Given the description of an element on the screen output the (x, y) to click on. 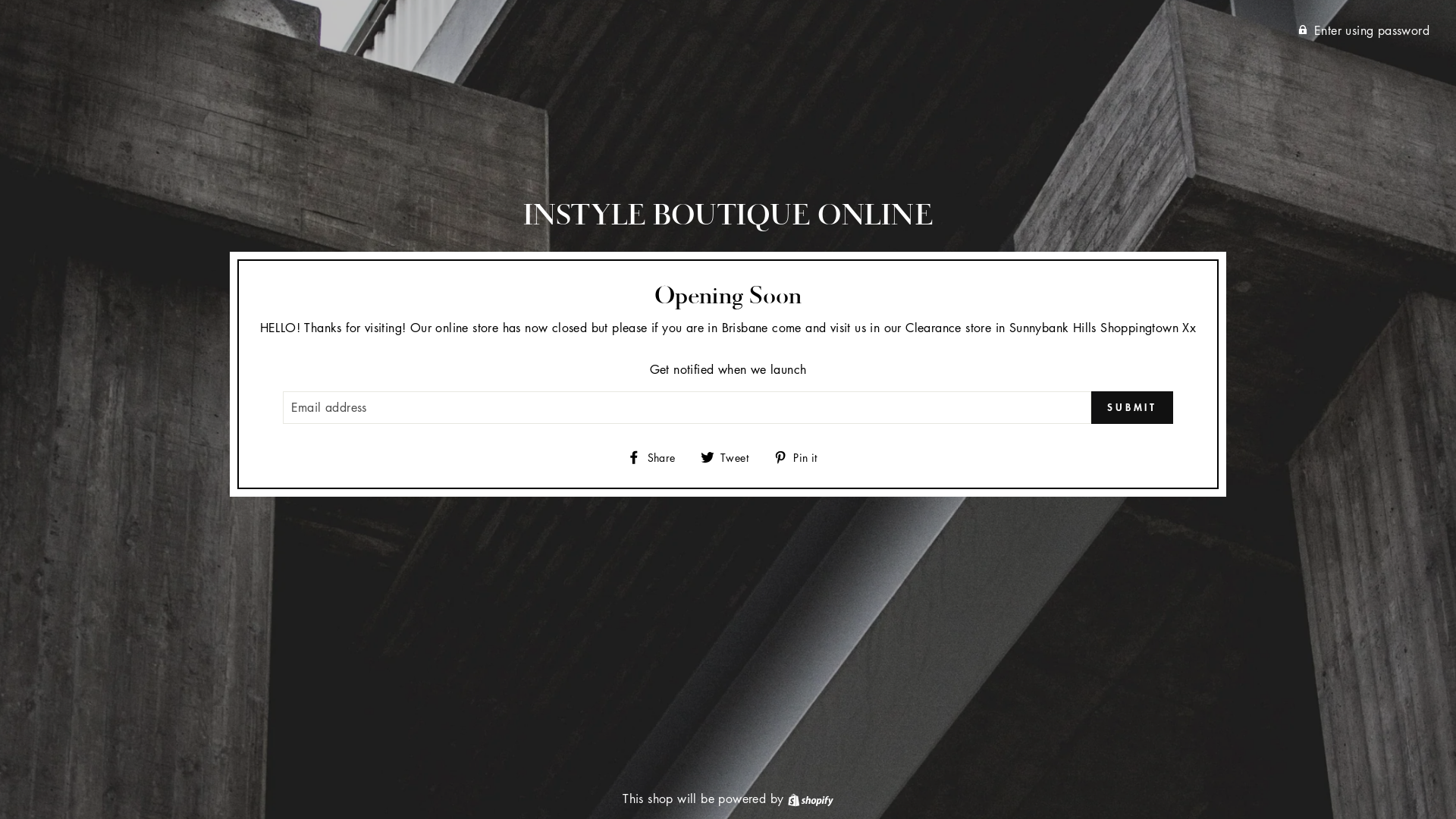
SUBMIT Element type: text (1132, 407)
Shopify Element type: text (810, 798)
Share
Share on Facebook Element type: text (656, 456)
Tweet
Tweet on Twitter Element type: text (729, 456)
Enter using password Element type: text (1363, 30)
Pin it
Pin on Pinterest Element type: text (800, 456)
